Given the description of an element on the screen output the (x, y) to click on. 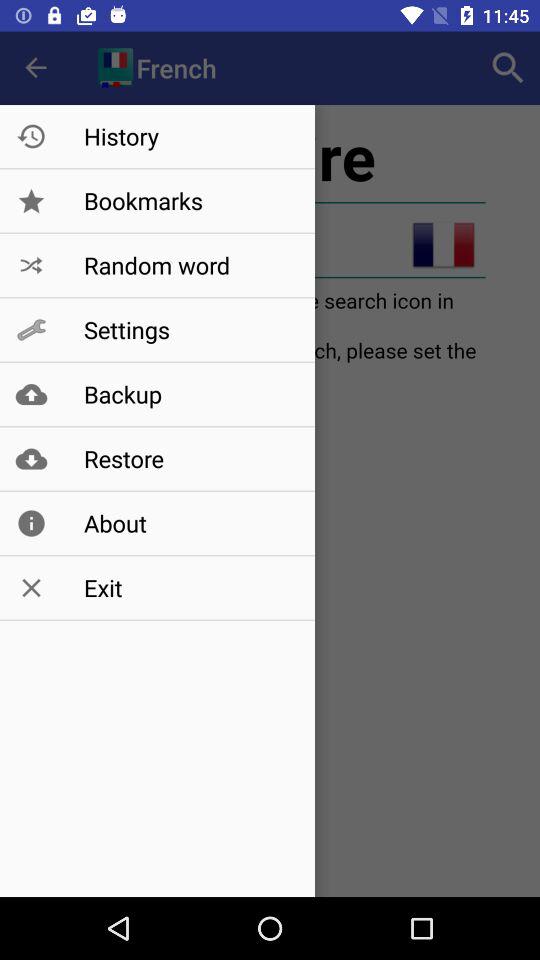
swipe to the backup (188, 394)
